Given the description of an element on the screen output the (x, y) to click on. 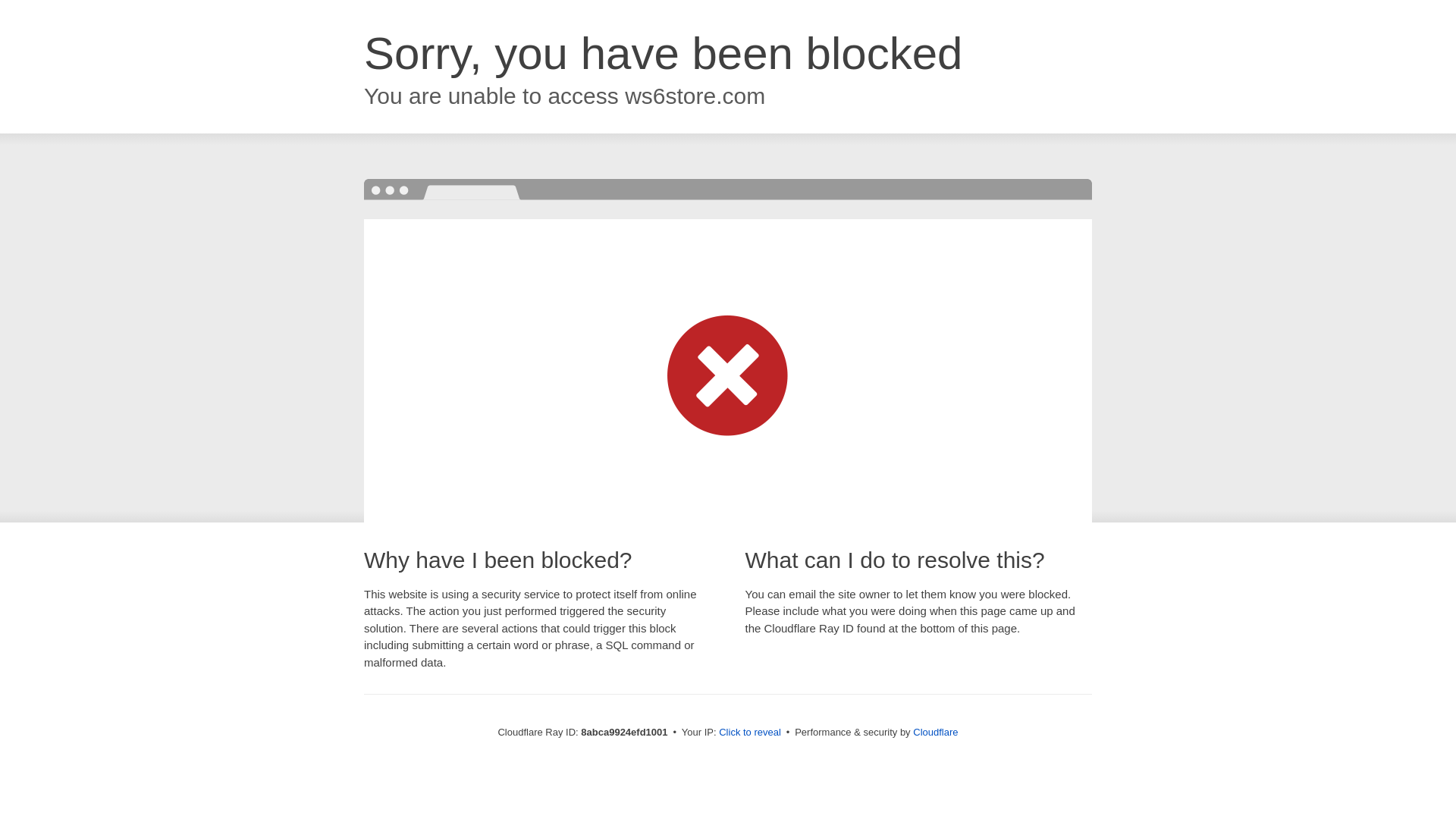
Click to reveal (749, 732)
Cloudflare (935, 731)
